Given the description of an element on the screen output the (x, y) to click on. 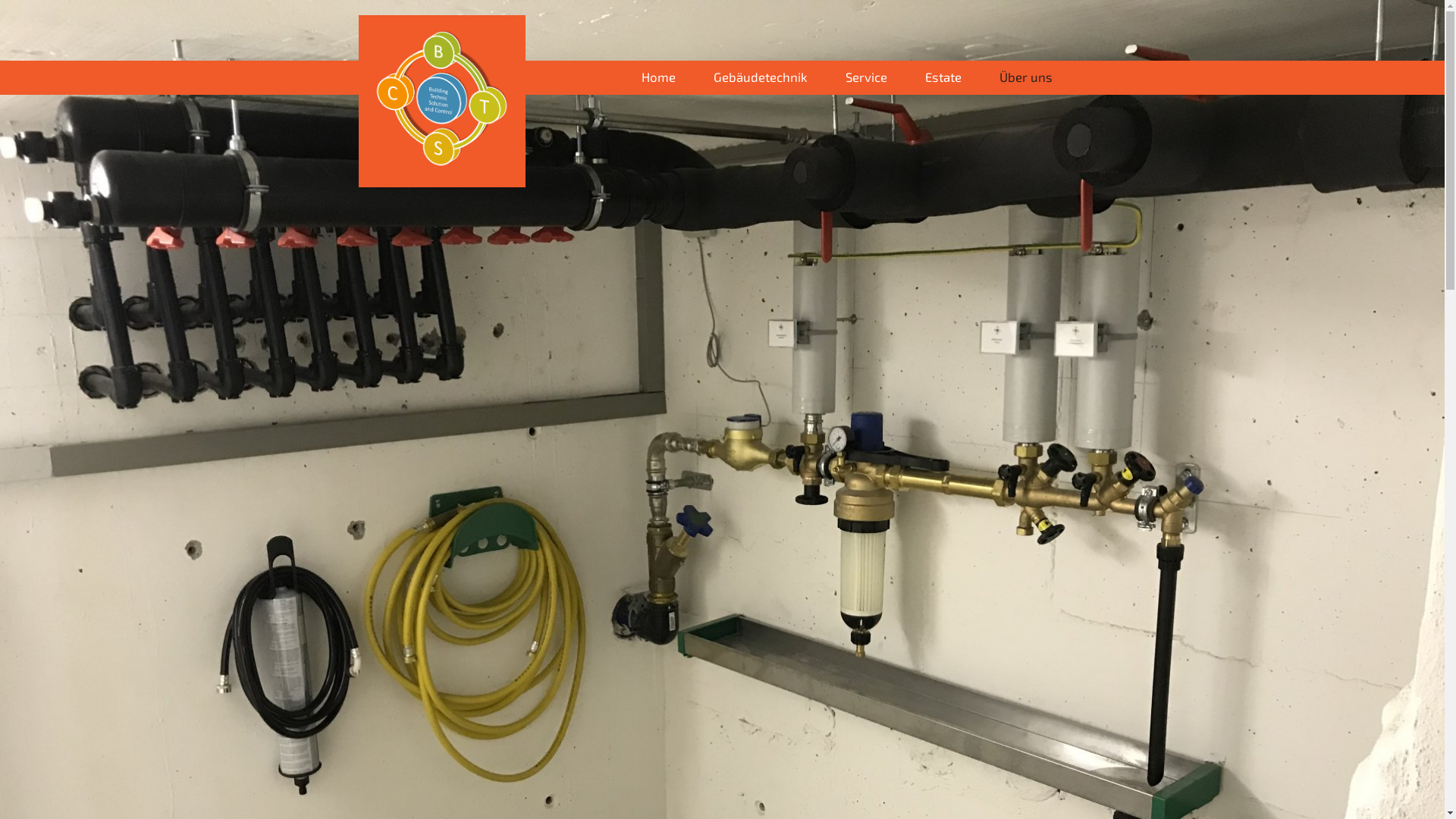
Service Element type: text (866, 77)
Home Element type: text (658, 77)
Estate Element type: text (943, 77)
